Given the description of an element on the screen output the (x, y) to click on. 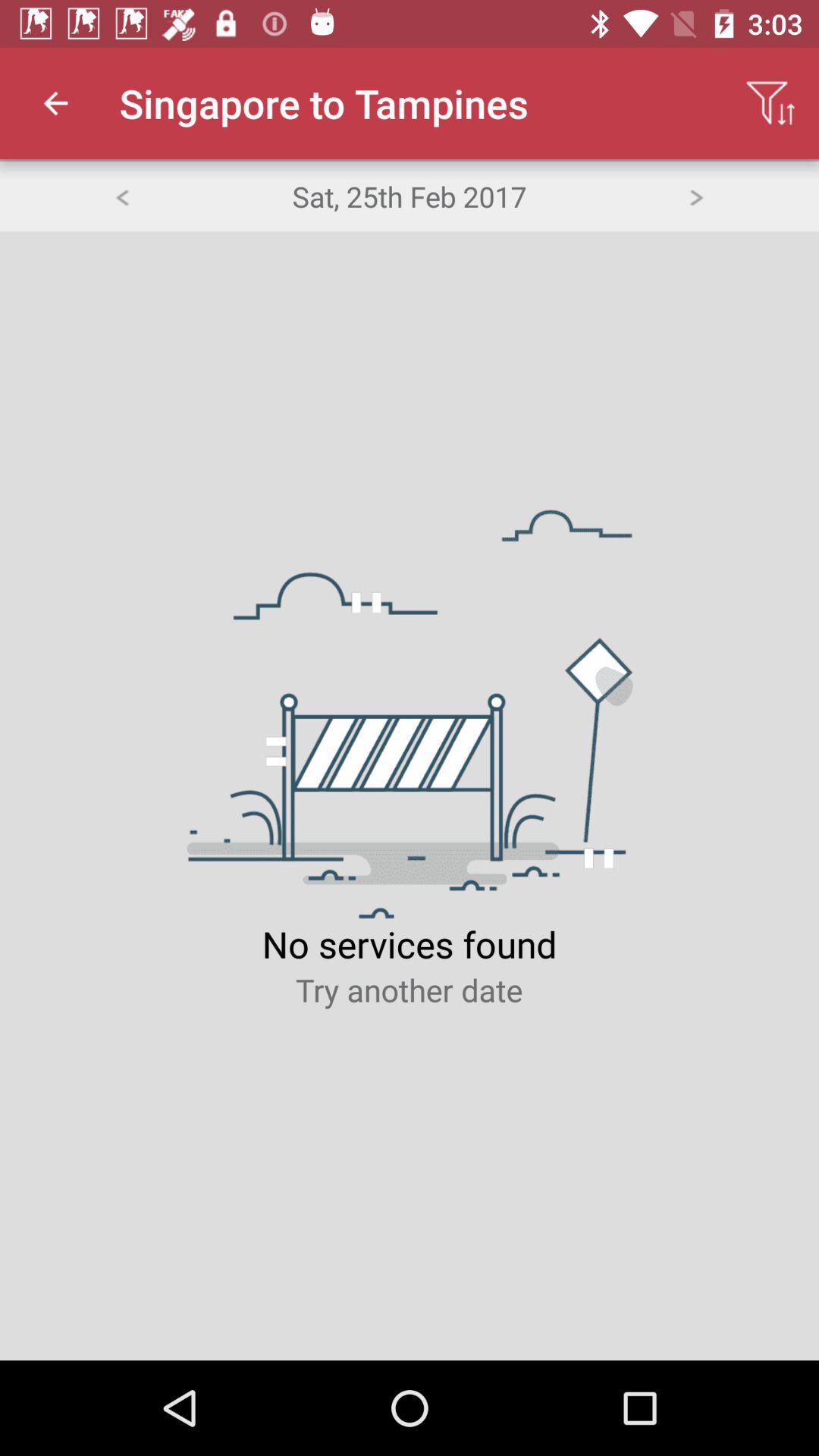
go to (696, 196)
